Given the description of an element on the screen output the (x, y) to click on. 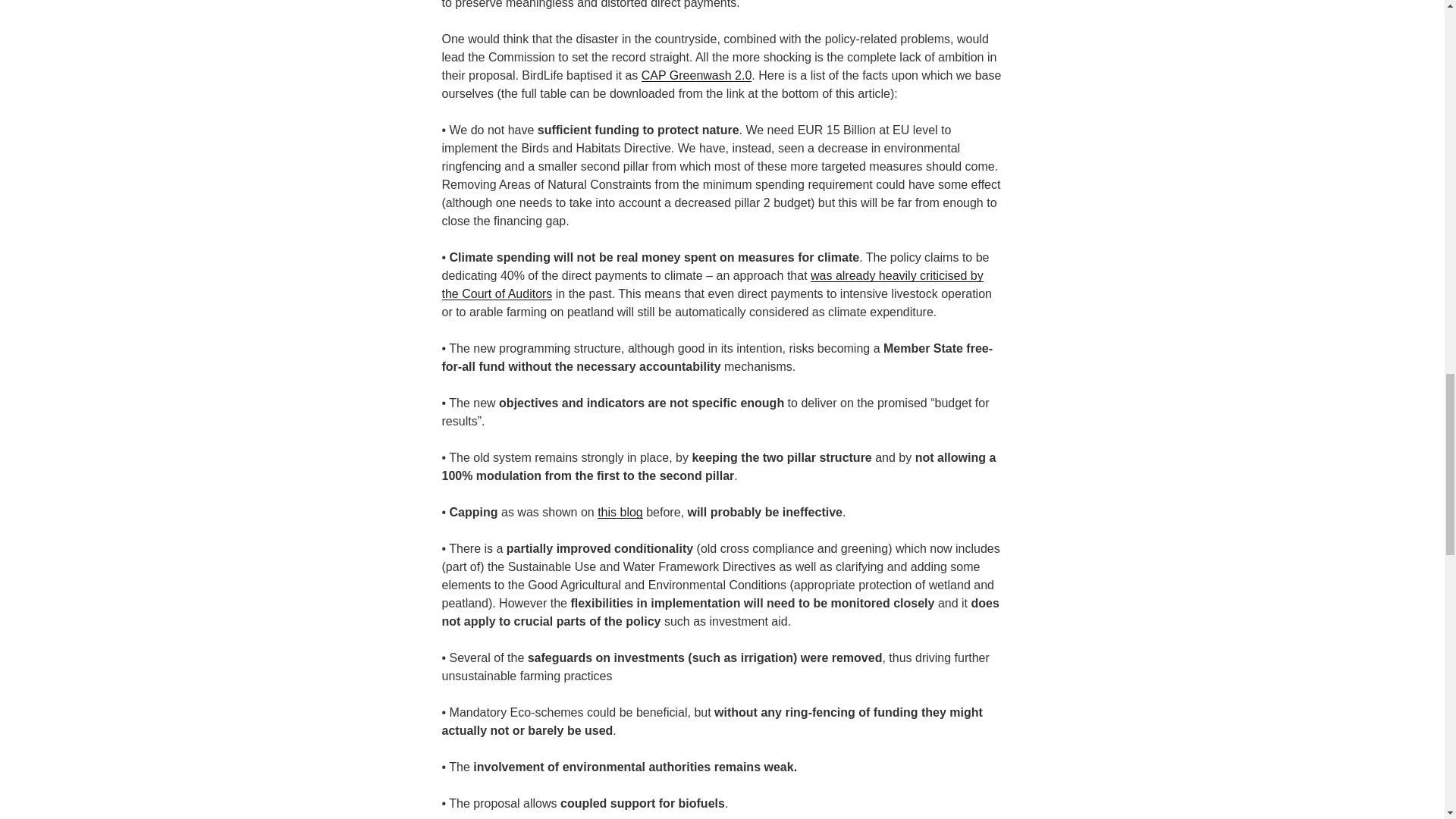
this blog (619, 512)
CAP Greenwash 2.0 (697, 74)
was already heavily criticised by the Court of Auditors (711, 284)
